Given the description of an element on the screen output the (x, y) to click on. 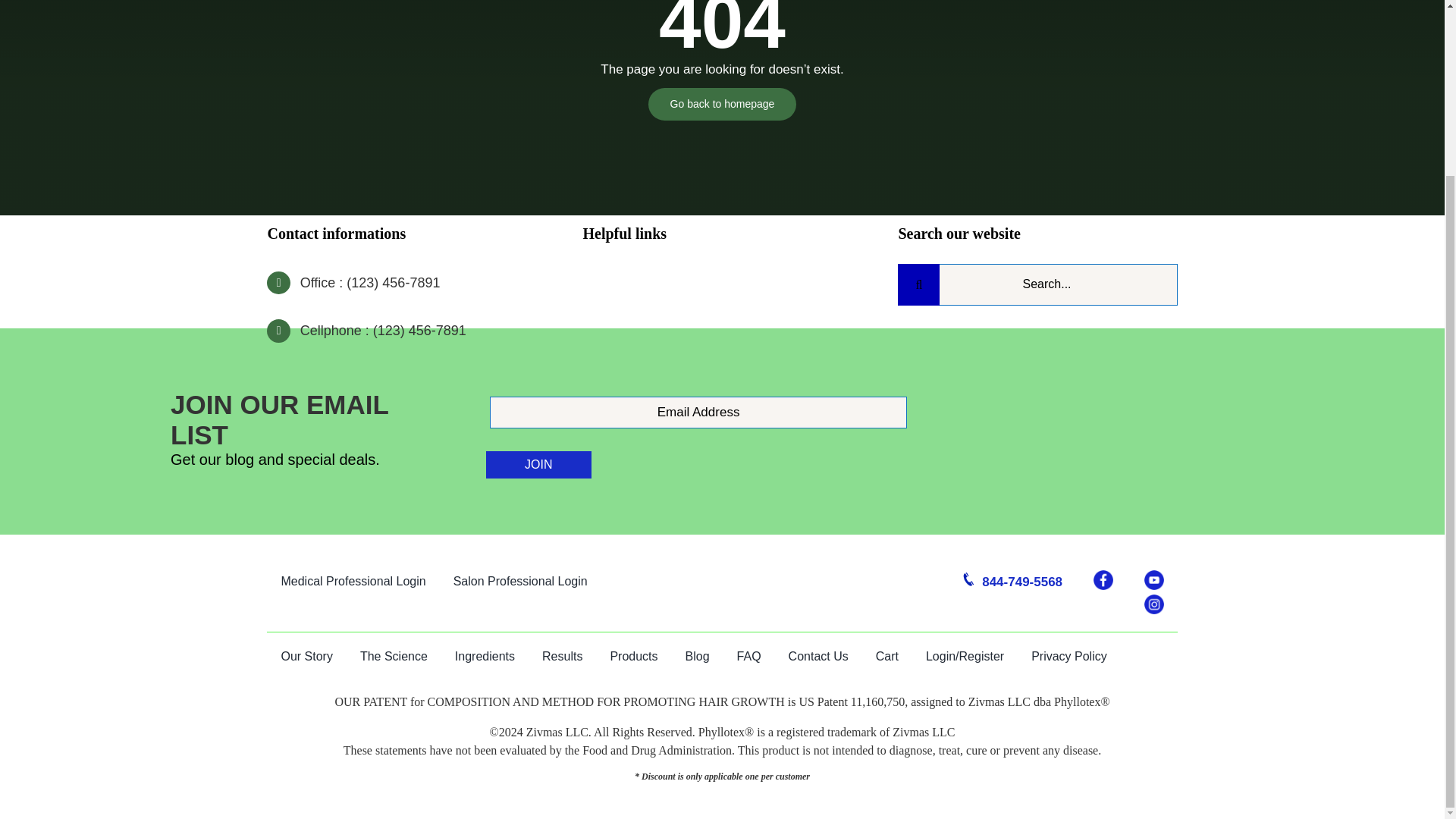
The Science (393, 656)
Salon Professional Login (520, 581)
Log In (1379, 37)
Our Story (306, 656)
Join (538, 464)
Medical Professional Login (353, 581)
844-749-5568 (1010, 581)
Go back to homepage (721, 103)
Join (538, 464)
Ingredients (484, 656)
